Given the description of an element on the screen output the (x, y) to click on. 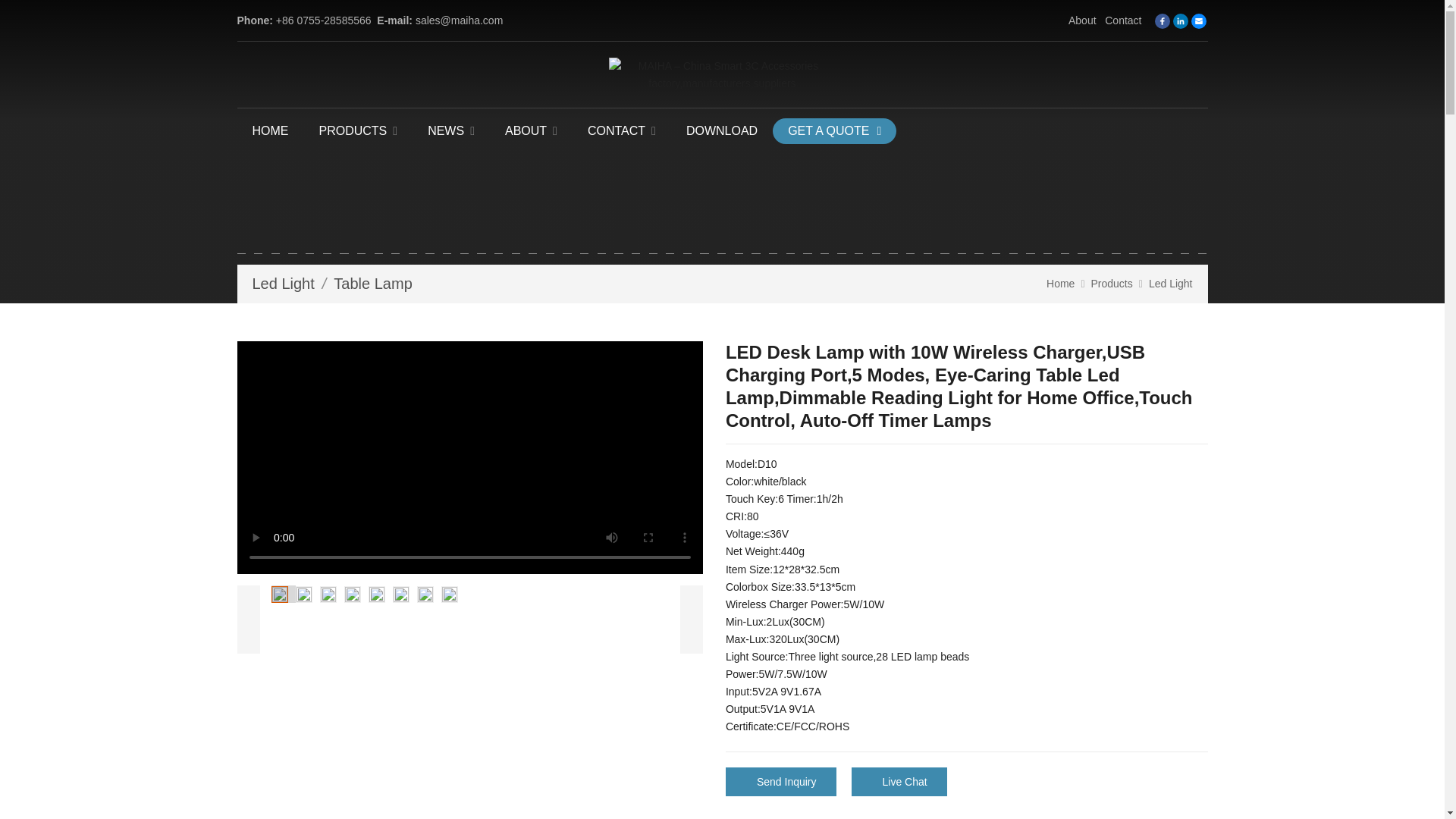
ABOUT (530, 130)
PRODUCTS (357, 130)
Contact (1123, 20)
DOWNLOAD (722, 130)
CONTACT (621, 130)
About (1082, 20)
Home (1060, 283)
GET A QUOTE (834, 130)
LinkedIn (1179, 20)
E-Mail (1198, 20)
